Given the description of an element on the screen output the (x, y) to click on. 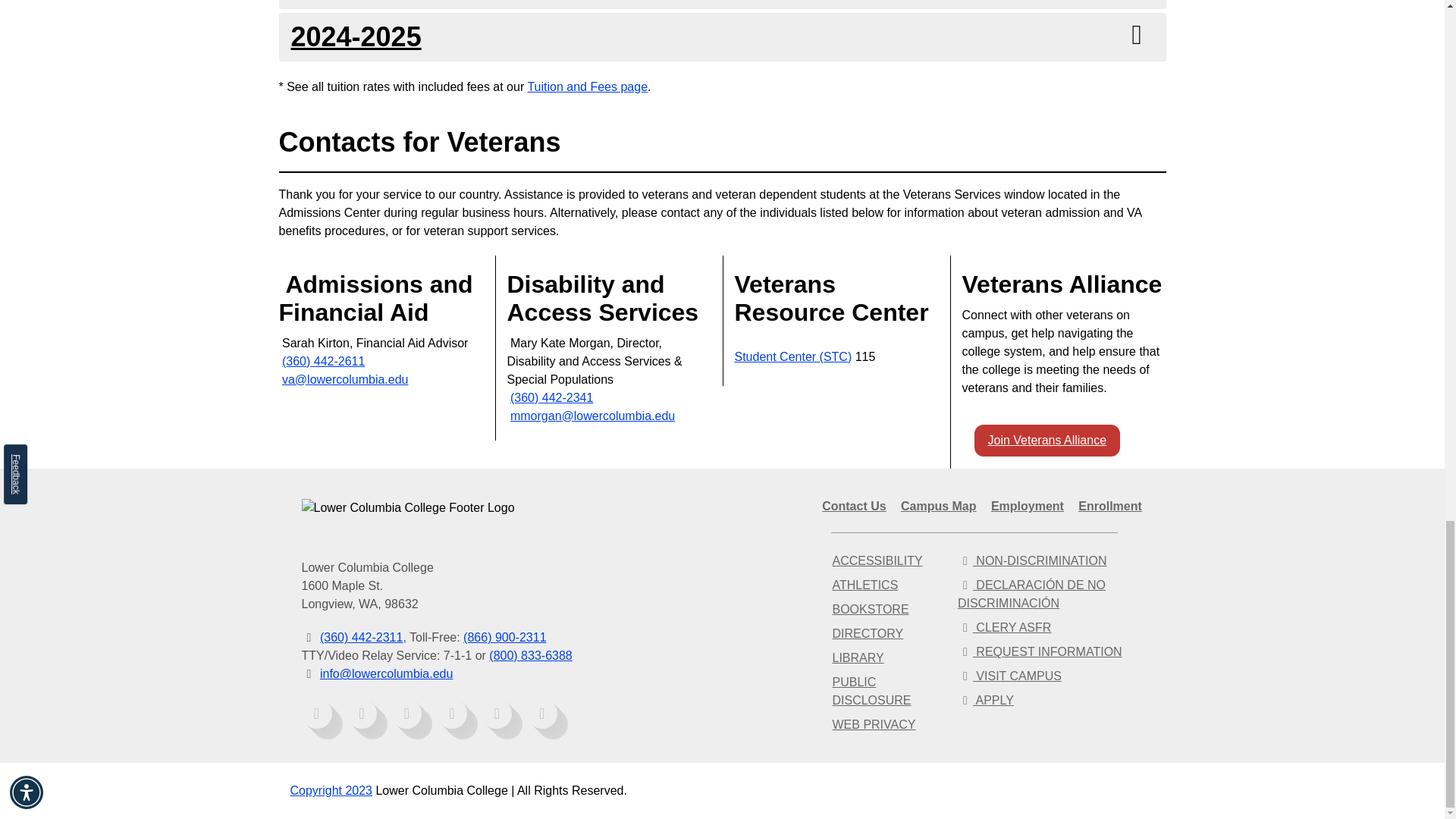
Public Disclosure (871, 690)
Join Veterans Alliance  (1046, 441)
